Given the description of an element on the screen output the (x, y) to click on. 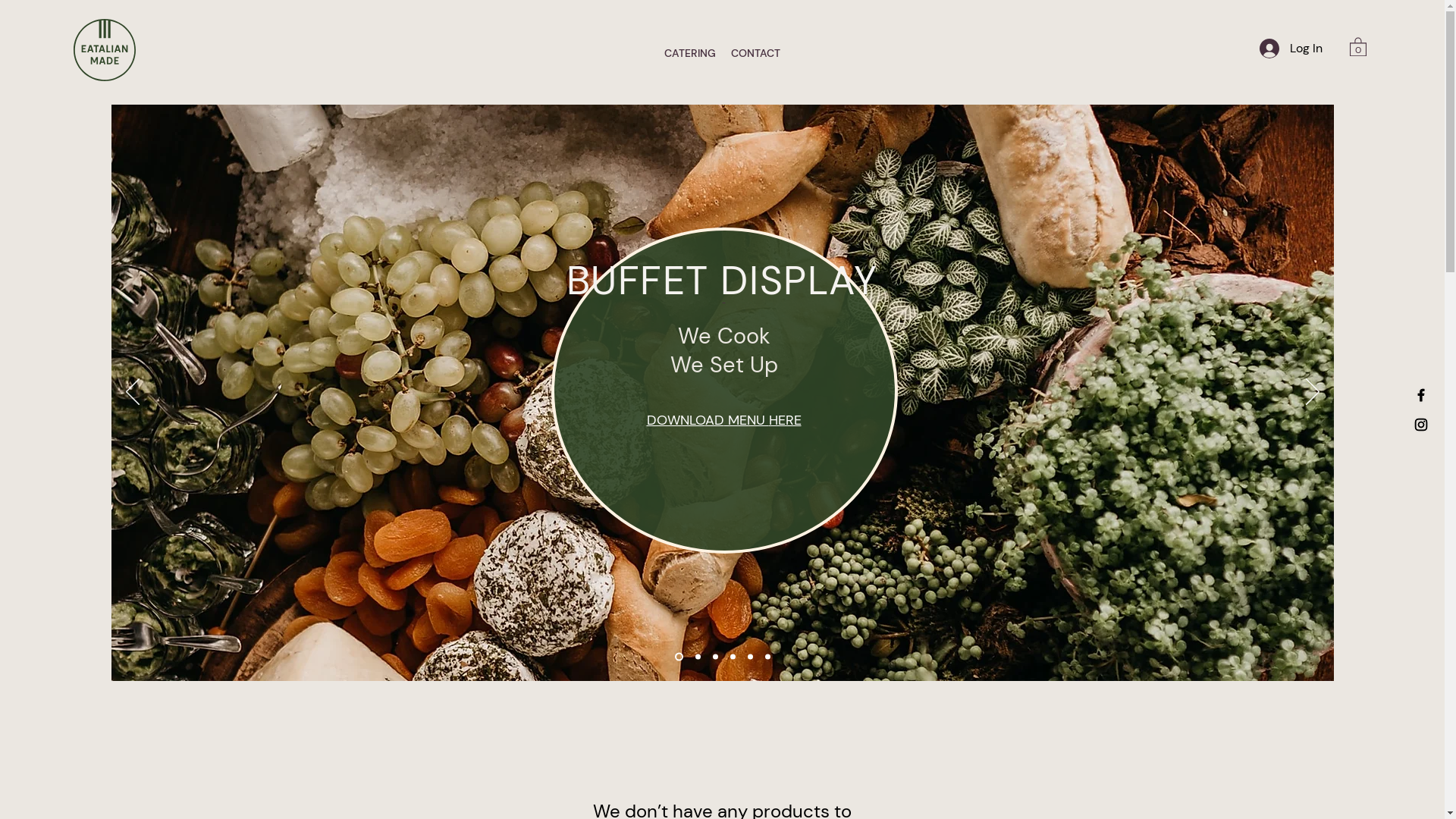
0 Element type: text (1357, 46)
CATERING Element type: text (689, 53)
CONTACT Element type: text (755, 53)
Log In Element type: text (1290, 48)
 
 

We Cook
We Set Up


DOWNLOAD MENU HERE Element type: text (723, 349)
